Given the description of an element on the screen output the (x, y) to click on. 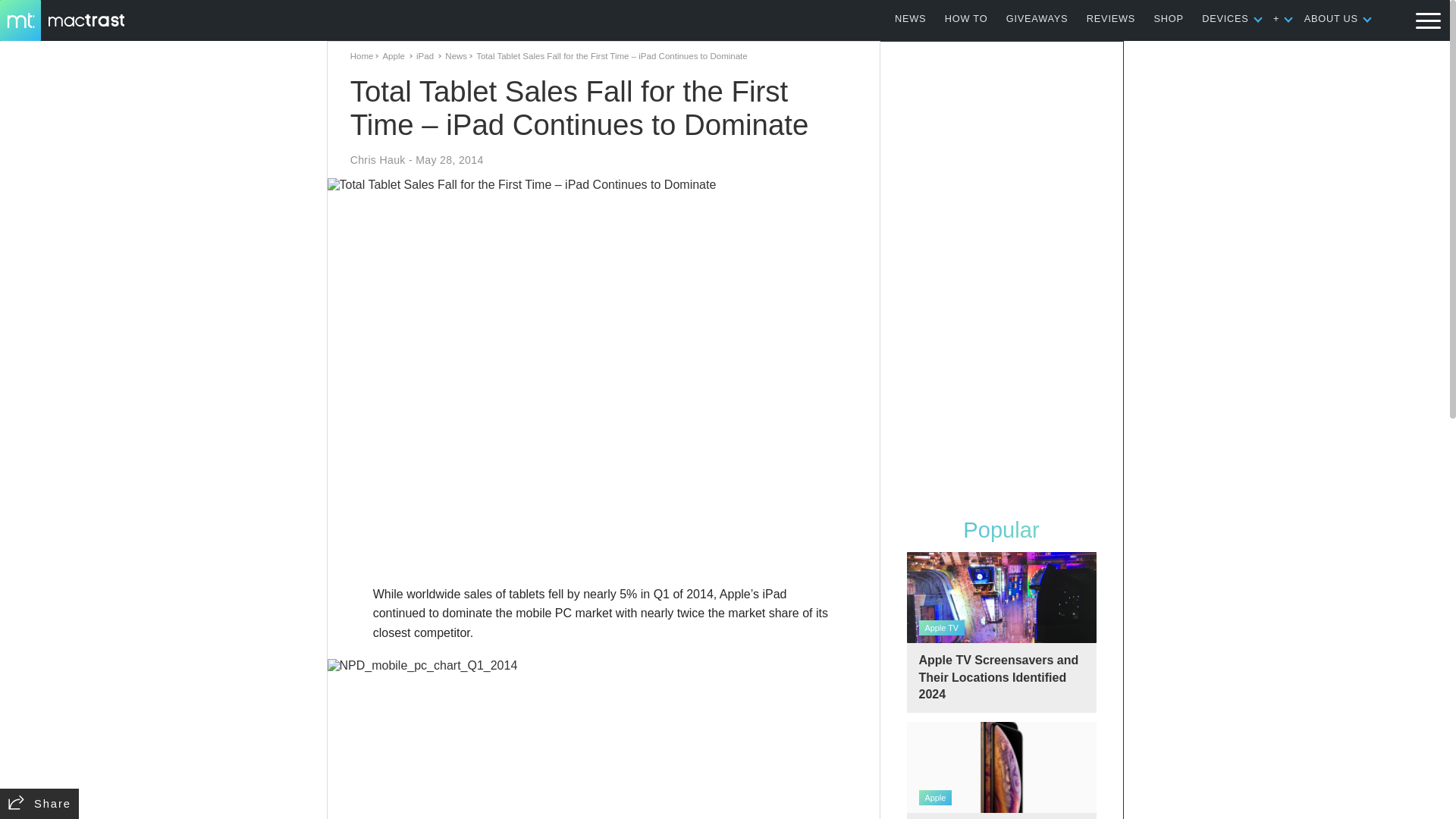
iPhone XS and XS Max Wallpapers in High Quality for Download (1001, 770)
ABOUT US (1331, 18)
REVIEWS (1110, 18)
DEVICES (1224, 18)
HOW TO (966, 18)
NEWS (910, 18)
SHOP (1168, 18)
Apple TV Screensavers and Their Locations Identified 2024 (1001, 632)
Advertisement (603, 540)
GIVEAWAYS (1037, 18)
Posts by Chris Hauk (378, 159)
Advertisement (1000, 274)
